Given the description of an element on the screen output the (x, y) to click on. 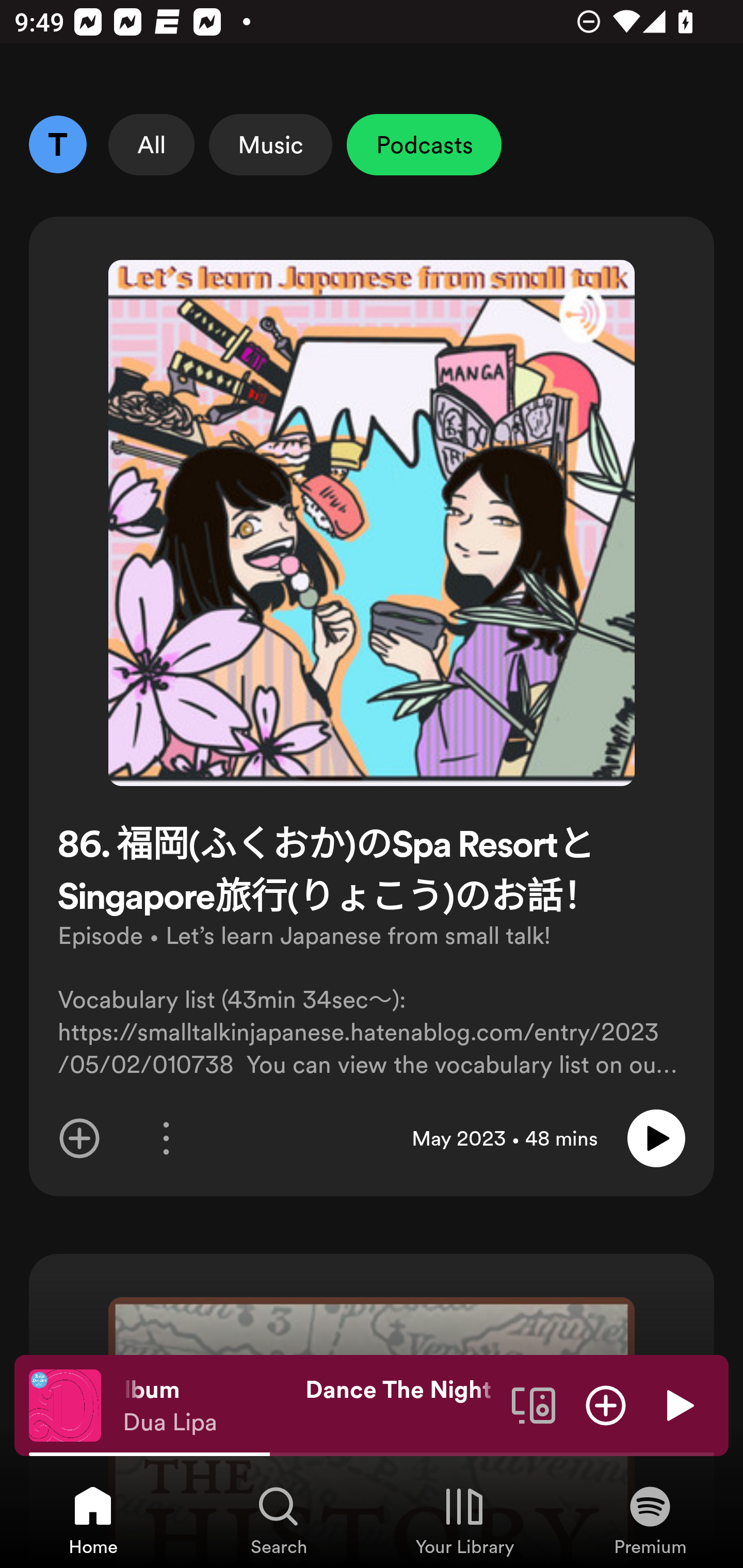
Profile (57, 144)
All Select All (151, 144)
Music Select Music (270, 144)
Podcasts Unselect Podcasts (423, 144)
Add item (79, 1138)
Play (655, 1138)
Dance The Night - From Barbie The Album Dua Lipa (309, 1405)
The cover art of the currently playing track (64, 1404)
Connect to a device. Opens the devices menu (533, 1404)
Add item (605, 1404)
Play (677, 1404)
Home, Tab 1 of 4 Home Home (92, 1519)
Search, Tab 2 of 4 Search Search (278, 1519)
Your Library, Tab 3 of 4 Your Library Your Library (464, 1519)
Premium, Tab 4 of 4 Premium Premium (650, 1519)
